Given the description of an element on the screen output the (x, y) to click on. 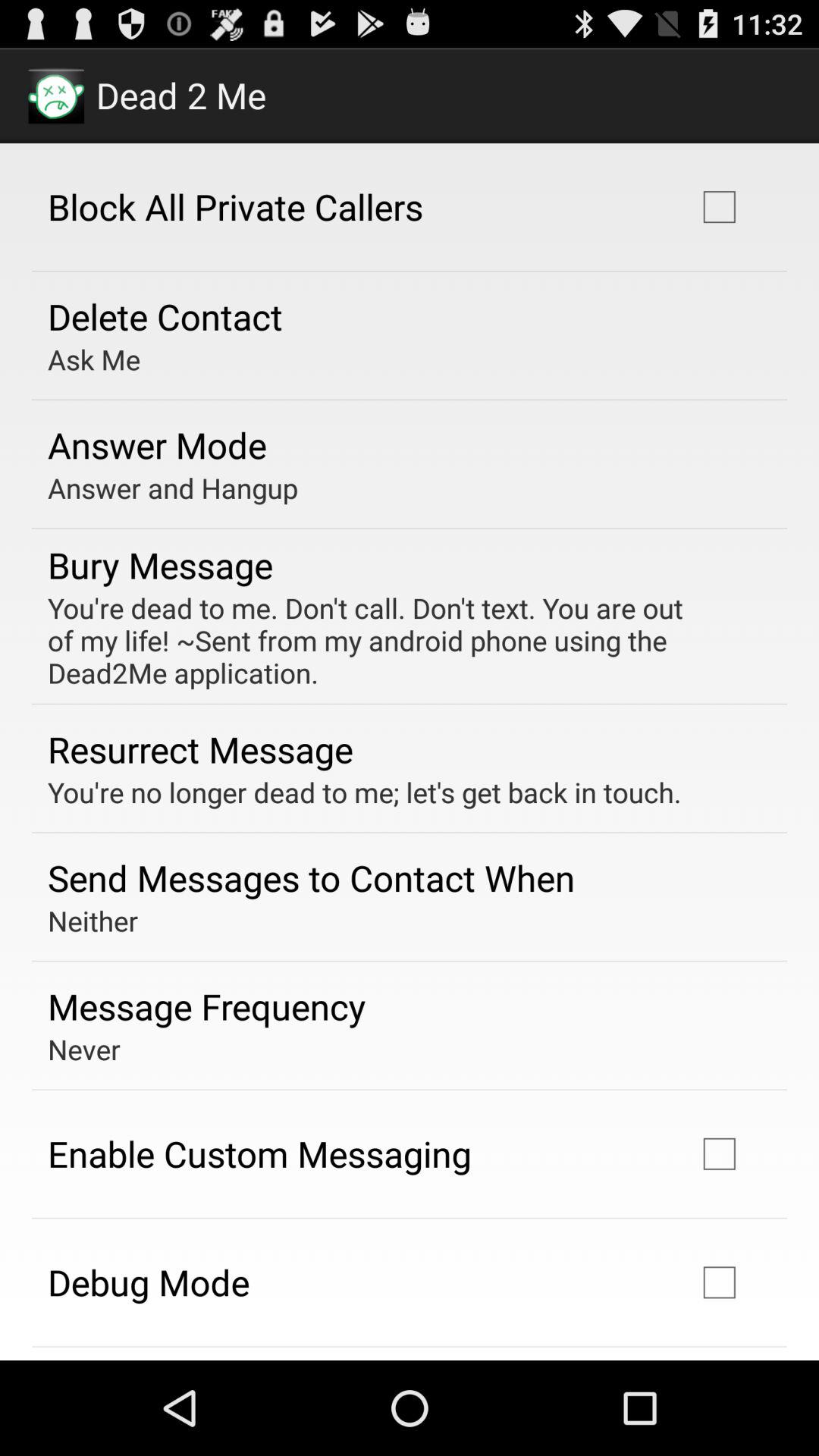
press icon below answer mode app (172, 487)
